Given the description of an element on the screen output the (x, y) to click on. 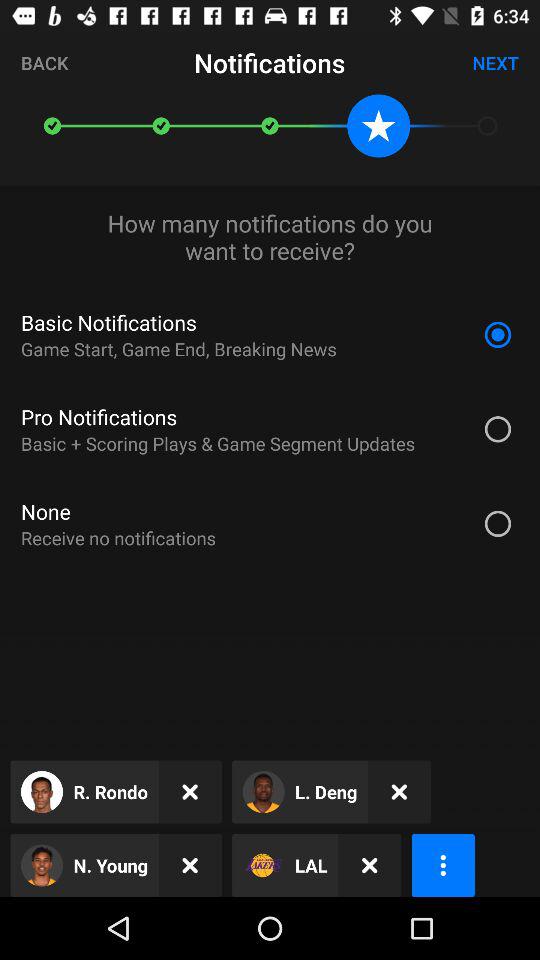
select back item (44, 62)
